Given the description of an element on the screen output the (x, y) to click on. 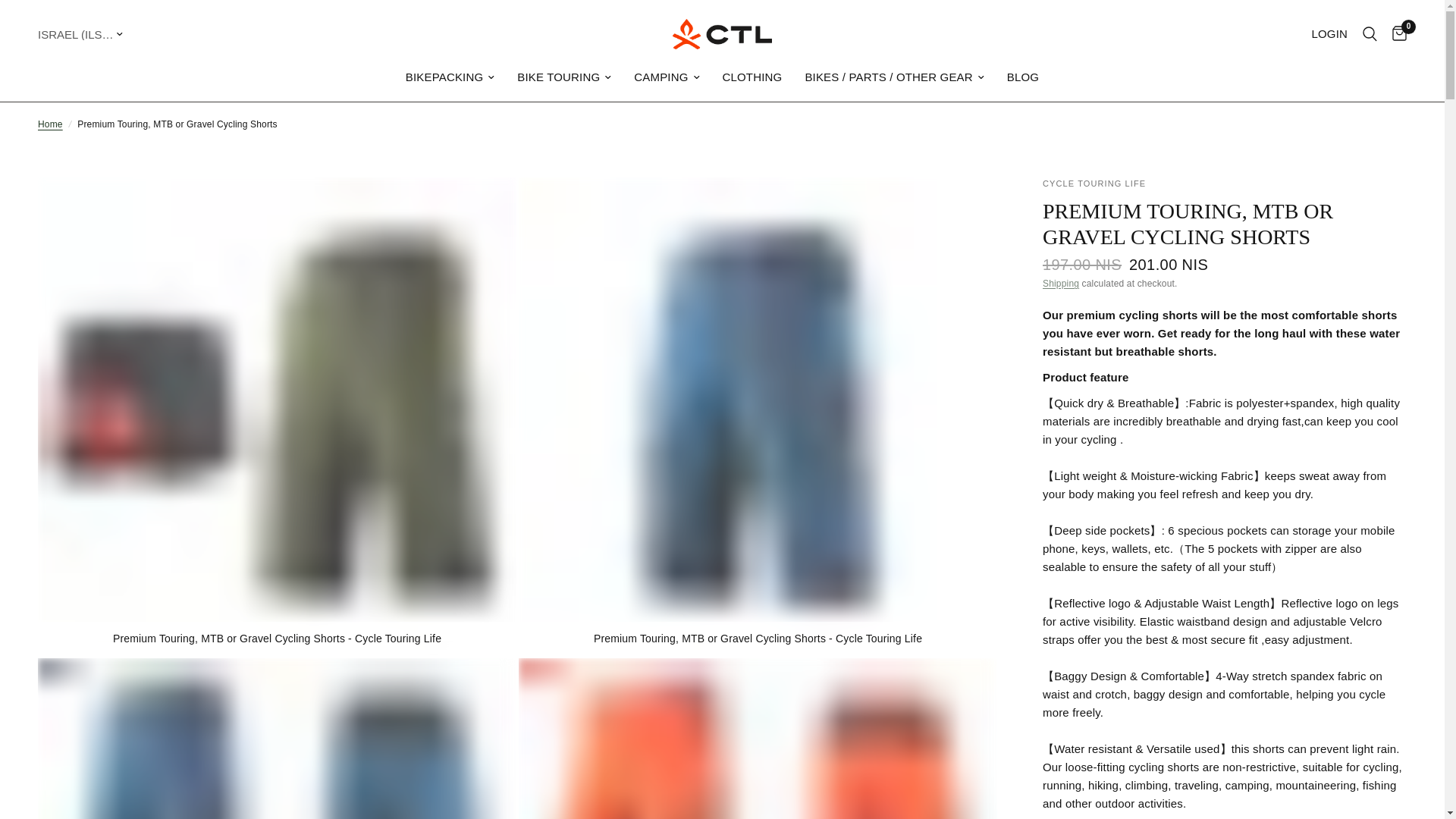
CAMPING (665, 76)
BIKEPACKING (450, 76)
LOGIN (1329, 33)
BIKE TOURING (563, 76)
